Given the description of an element on the screen output the (x, y) to click on. 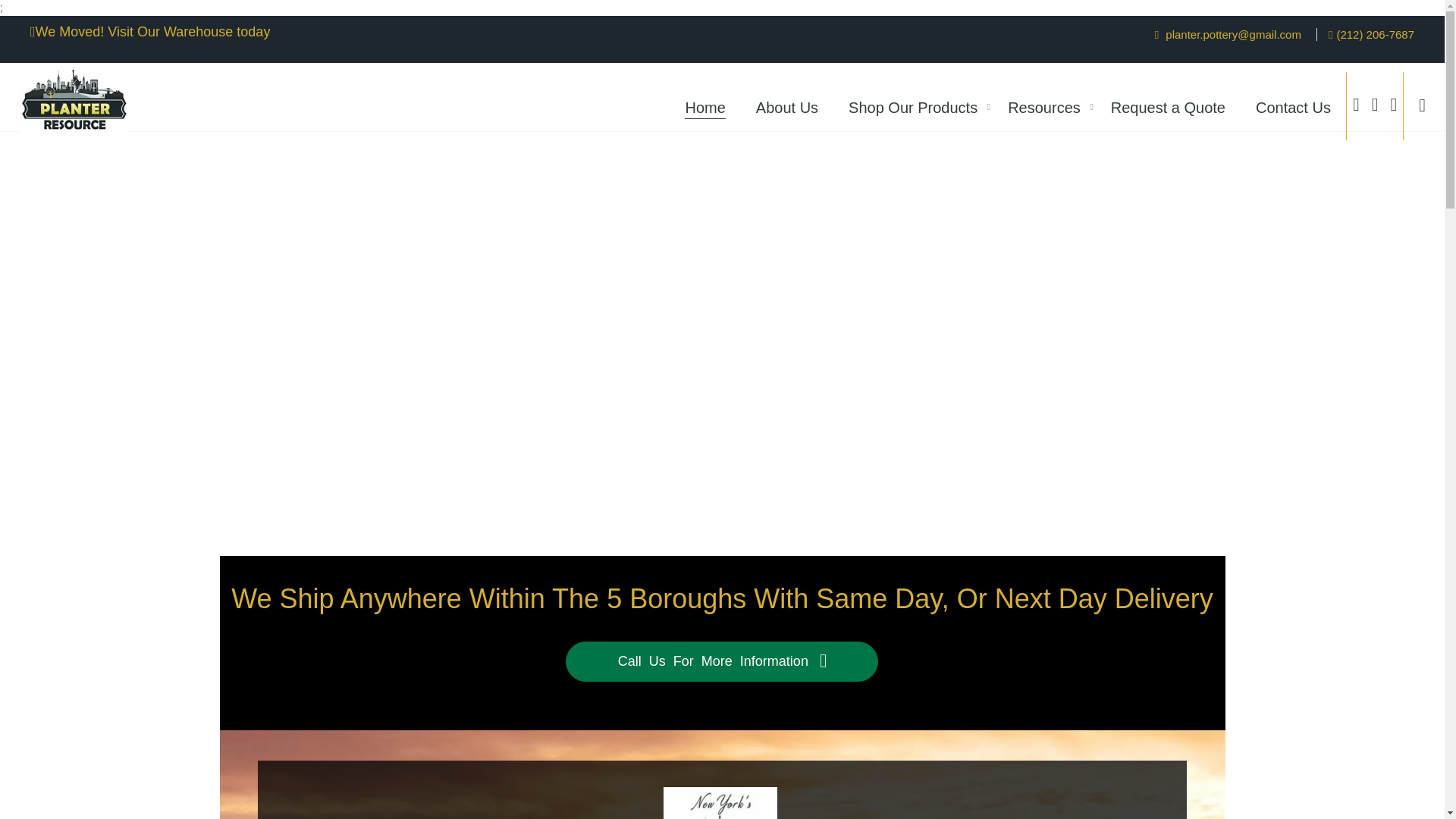
Home (704, 105)
About Us (786, 105)
Shop Our Products (912, 105)
Contact Us (1292, 105)
Request a Quote (1168, 105)
Resources (1044, 105)
